Given the description of an element on the screen output the (x, y) to click on. 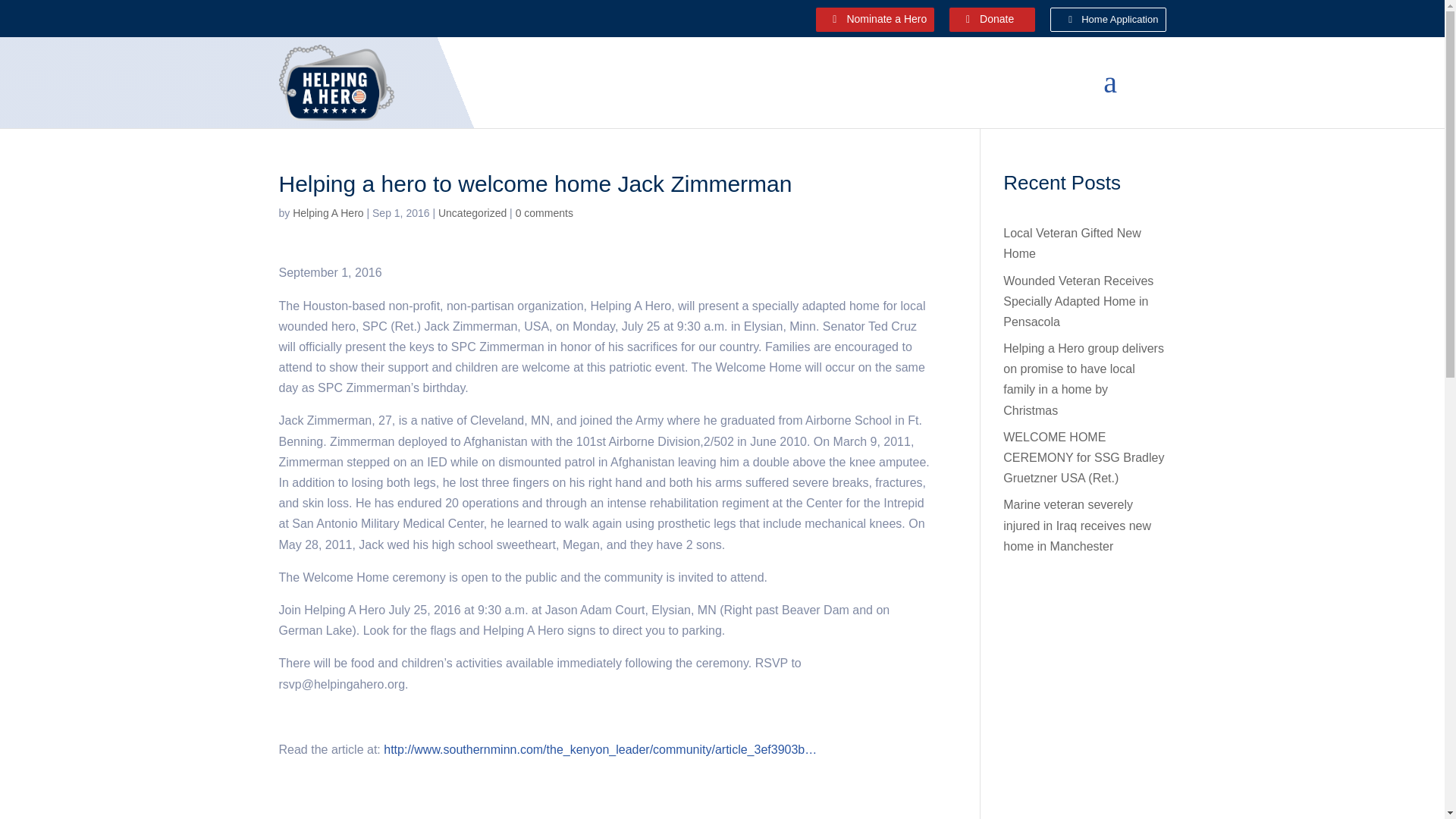
Donate (992, 19)
Local Veteran Gifted New Home (1071, 243)
Untitled-1 (336, 82)
Wounded Veteran Receives Specially Adapted Home in Pensacola (1078, 301)
Posts by Helping A Hero (327, 213)
0 comments (544, 213)
Uncategorized (472, 213)
Home Application (1107, 19)
